Given the description of an element on the screen output the (x, y) to click on. 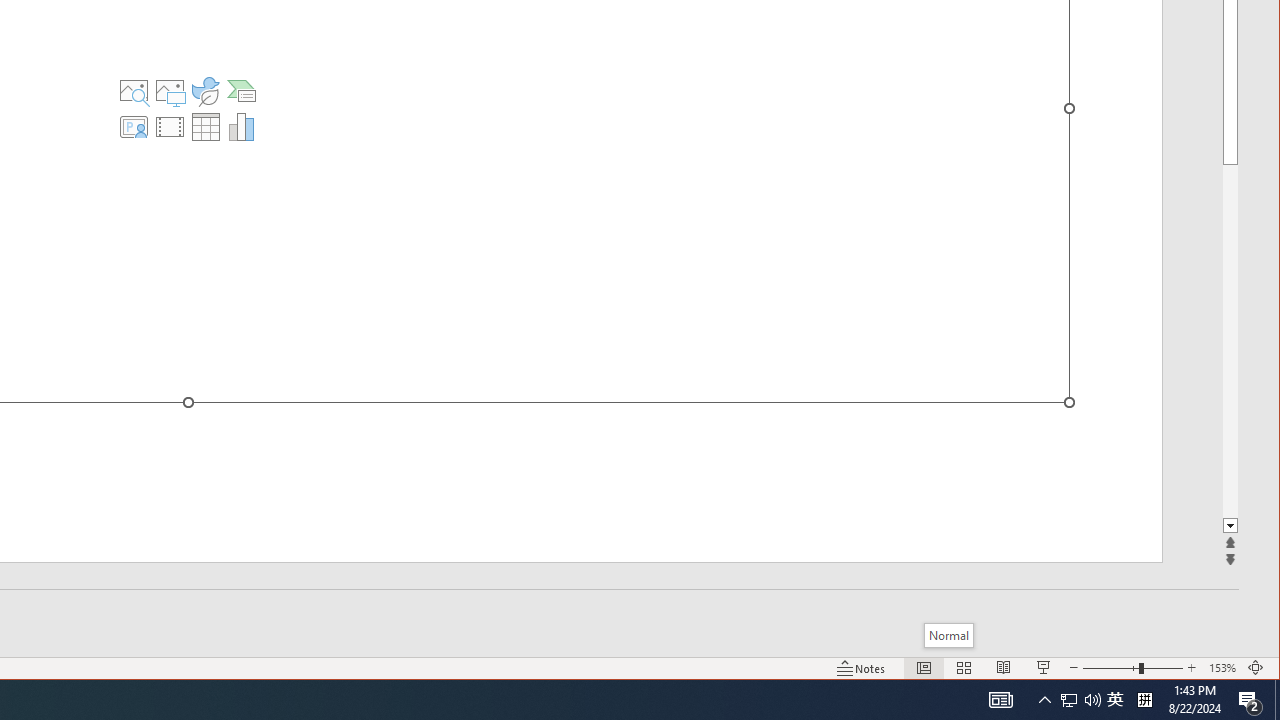
Zoom 153% (1222, 668)
